Given the description of an element on the screen output the (x, y) to click on. 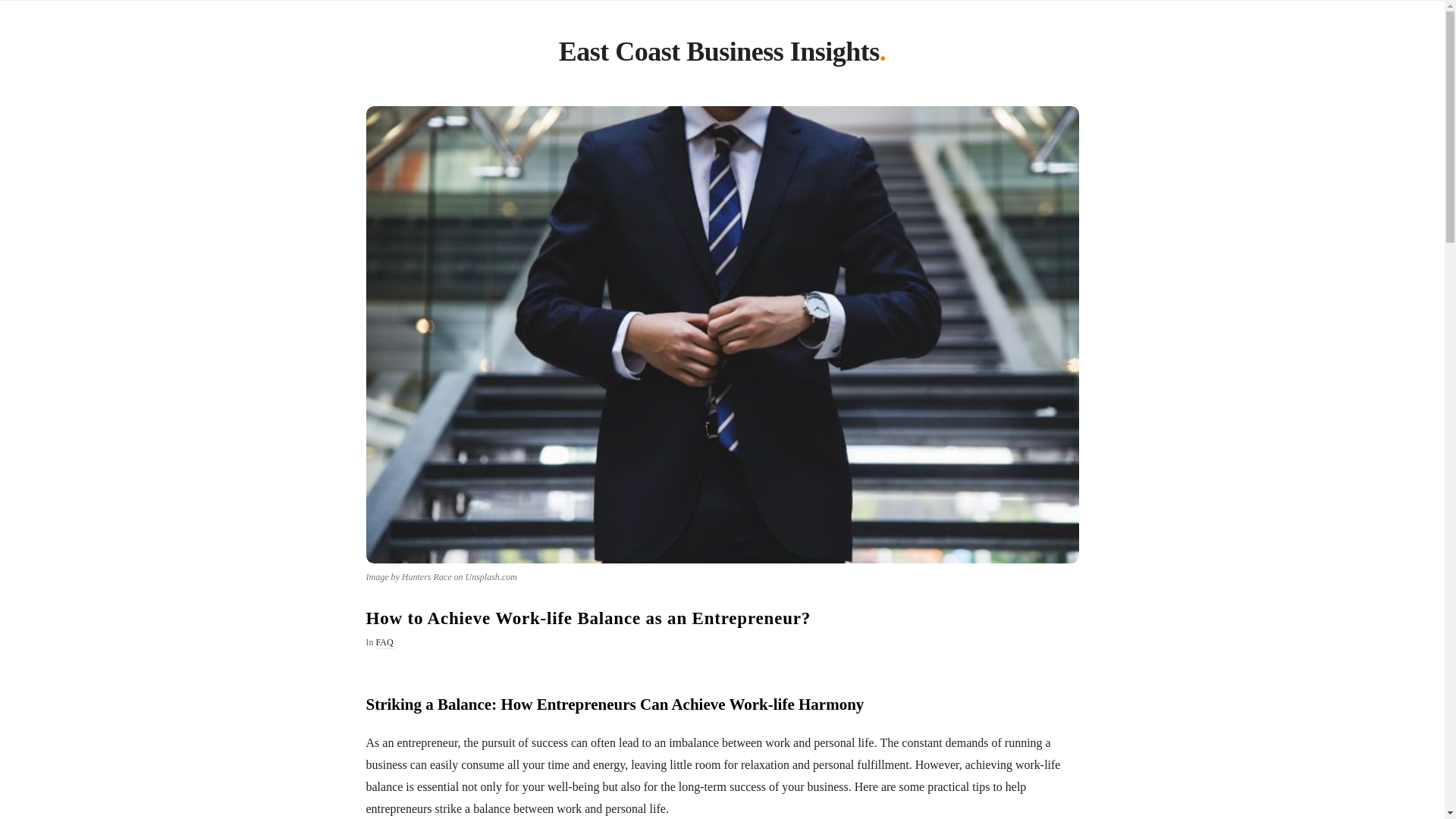
FAQ (384, 643)
East Coast Business Insights (719, 55)
East Coast Business Insights (719, 55)
